Given the description of an element on the screen output the (x, y) to click on. 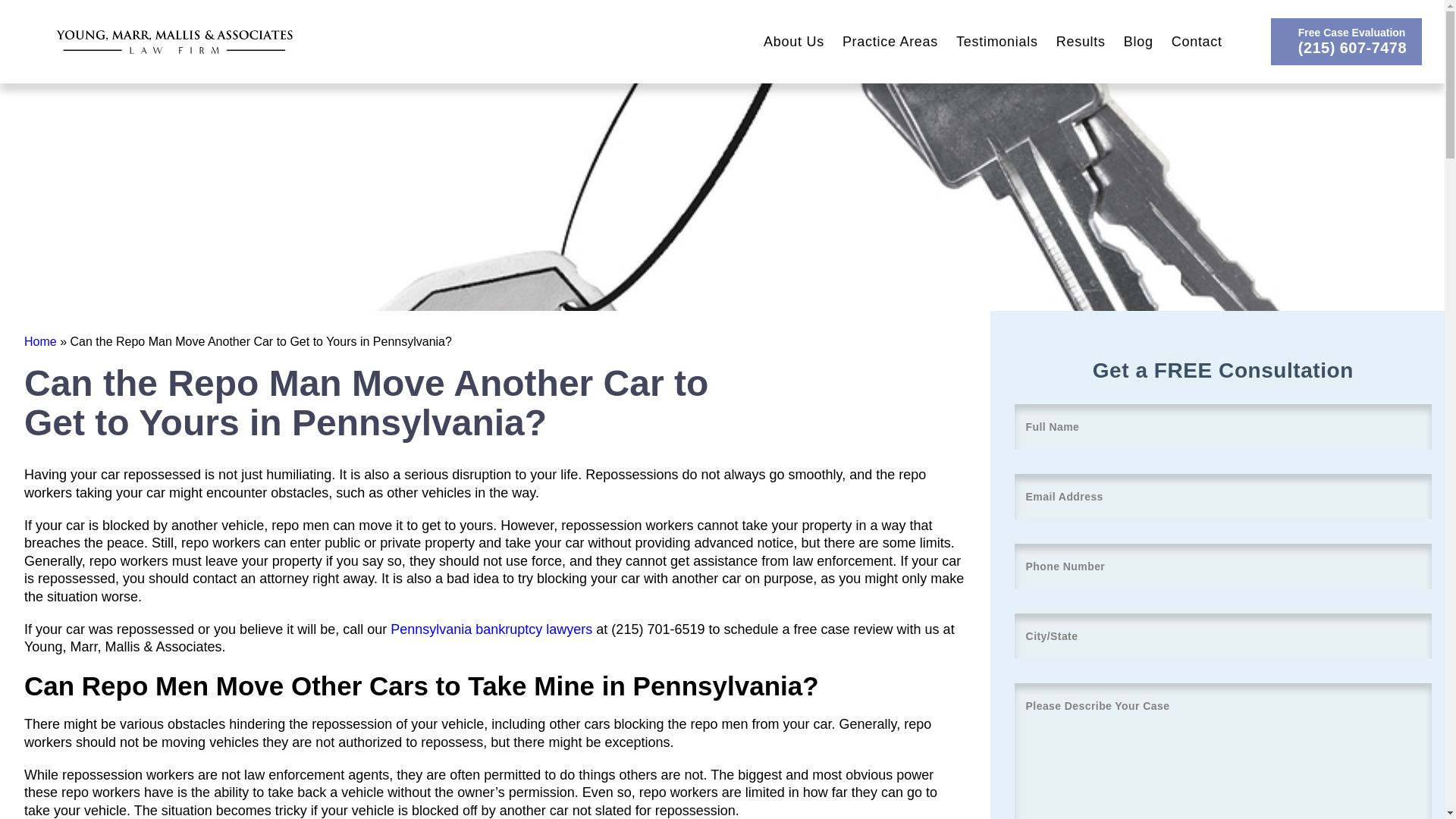
Results (1081, 41)
Testimonials (997, 41)
Blog (1138, 41)
Contact (1197, 41)
Practice Areas (890, 41)
About Us (793, 41)
